Given the description of an element on the screen output the (x, y) to click on. 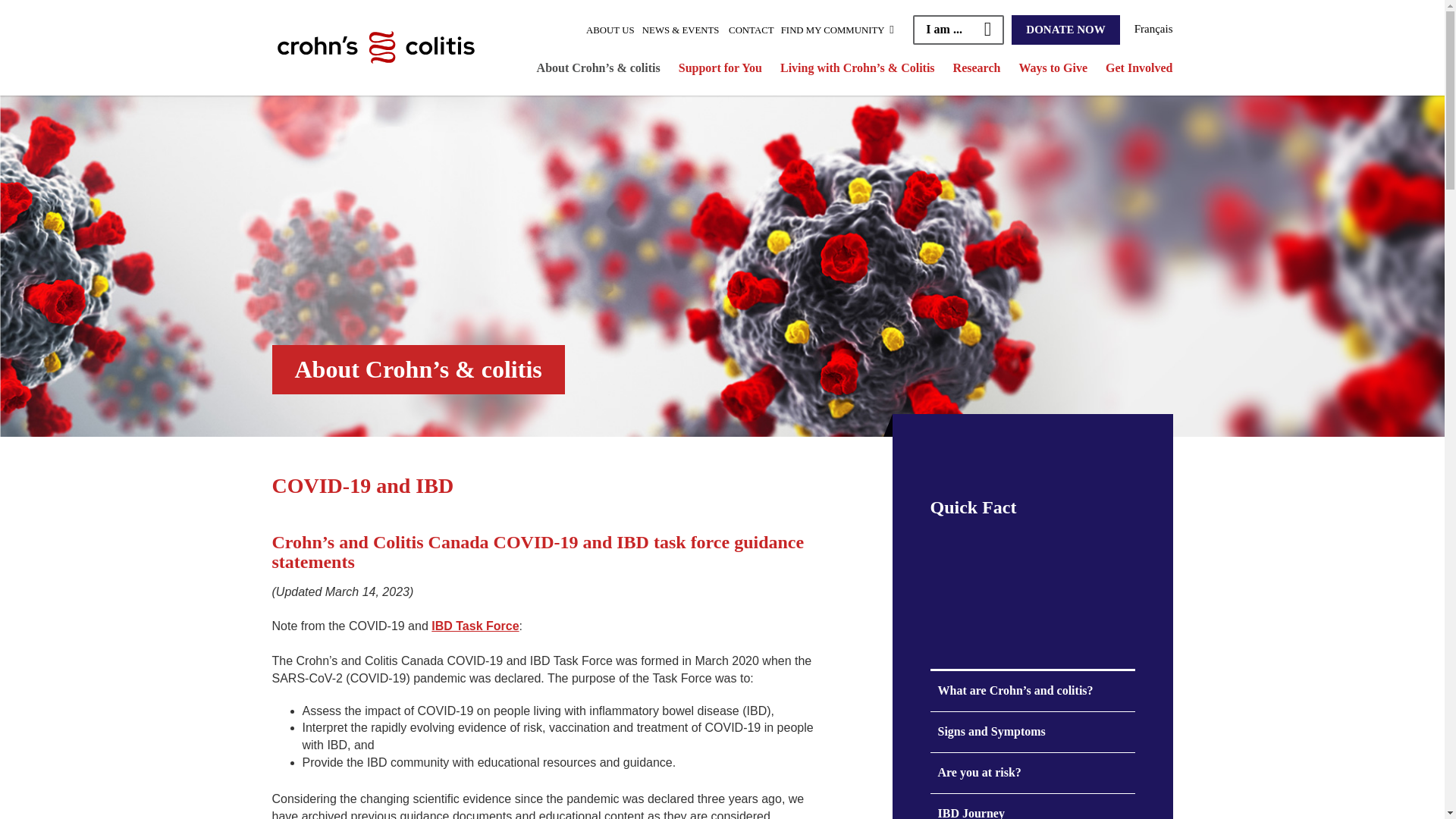
Support for You (720, 67)
DONATE NOW (1065, 30)
I am ... (958, 30)
